Given the description of an element on the screen output the (x, y) to click on. 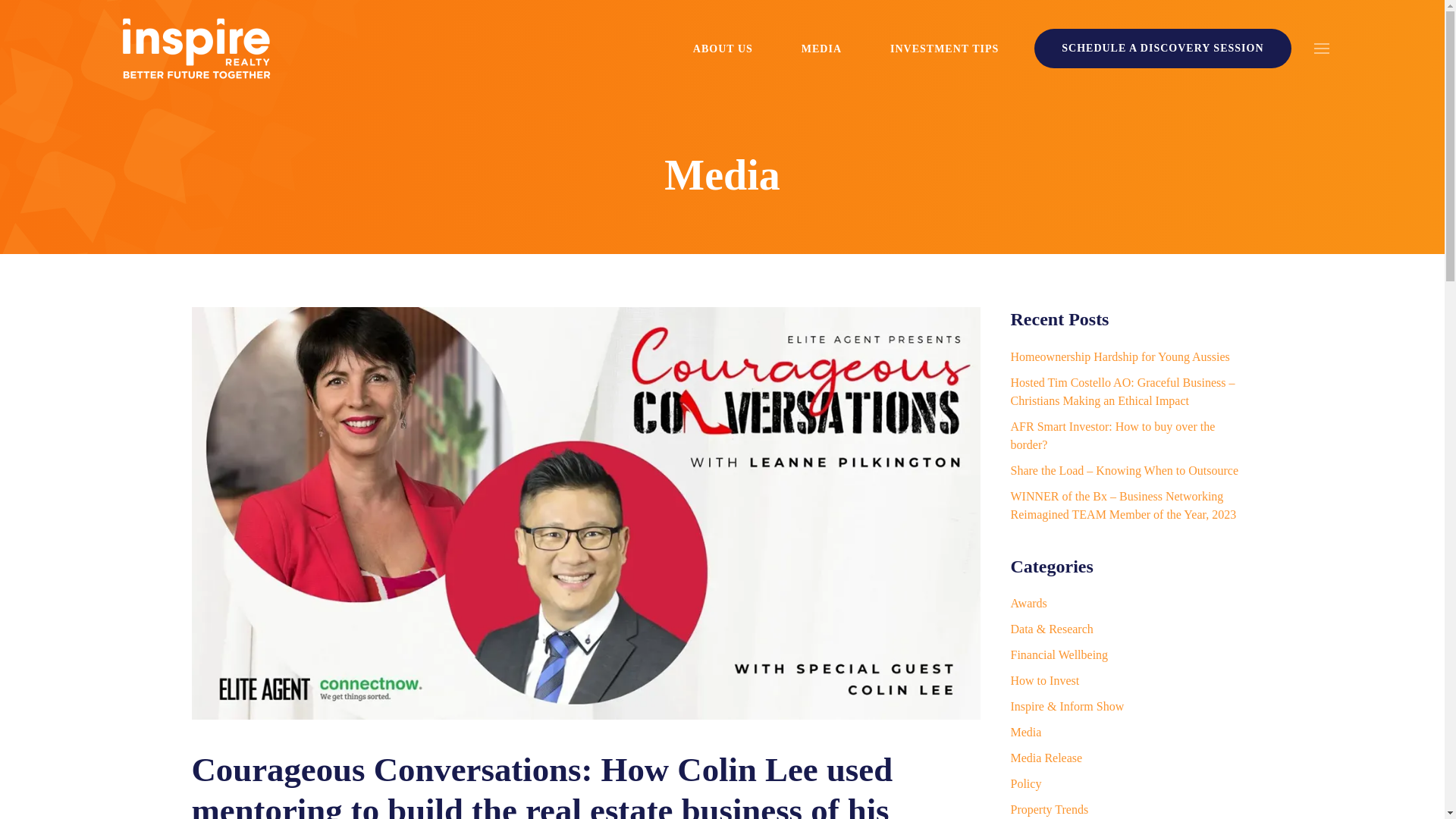
Media (1025, 731)
Awards (1028, 603)
Homeownership Hardship for Young Aussies (1119, 356)
ABOUT US (722, 48)
Media (721, 174)
AFR Smart Investor: How to buy over the border? (1112, 435)
Financial Wellbeing (1059, 654)
INVESTMENT TIPS (944, 48)
SCHEDULE A DISCOVERY SESSION (1161, 47)
MEDIA (821, 48)
How to Invest (1044, 680)
